Given the description of an element on the screen output the (x, y) to click on. 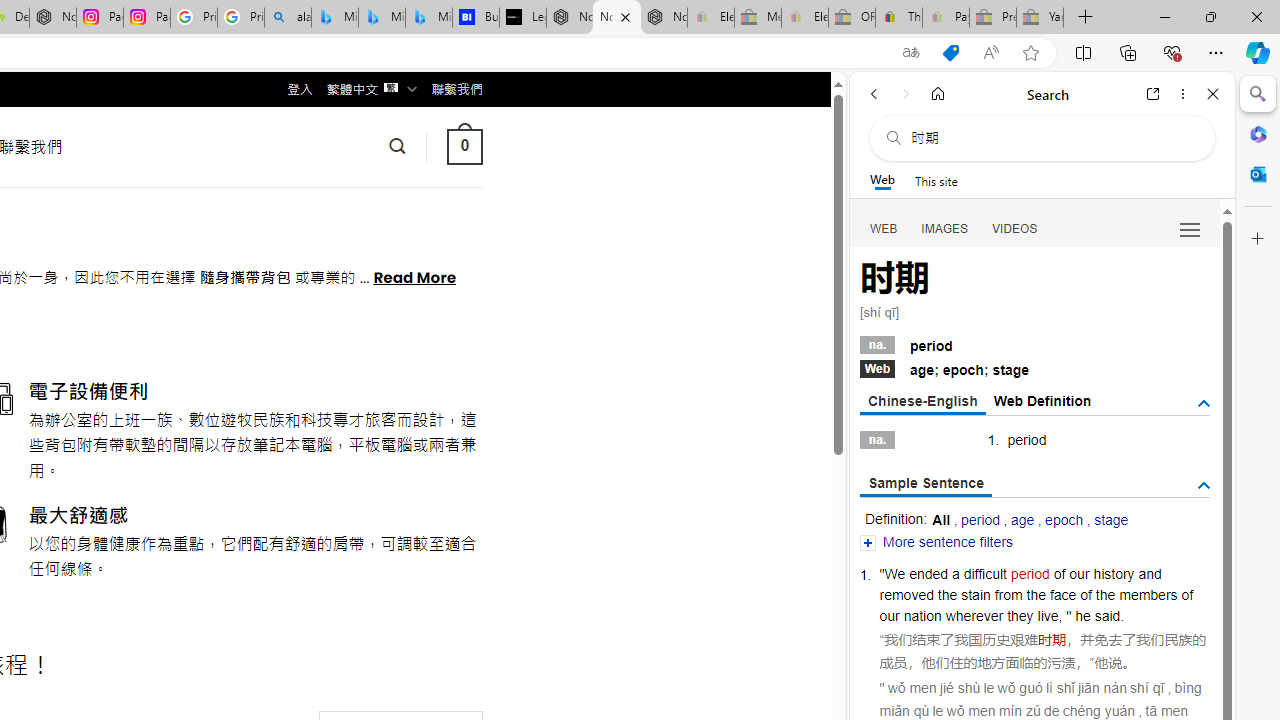
AutomationID: tgdef (1203, 404)
Webage; epoch; stage (1034, 367)
Search (1258, 94)
Read More (414, 276)
Microsoft Bing Travel - Shangri-La Hotel Bangkok (428, 17)
Preferences (1189, 228)
Threats and offensive language policy | eBay (898, 17)
We (895, 573)
wherever (973, 615)
